Given the description of an element on the screen output the (x, y) to click on. 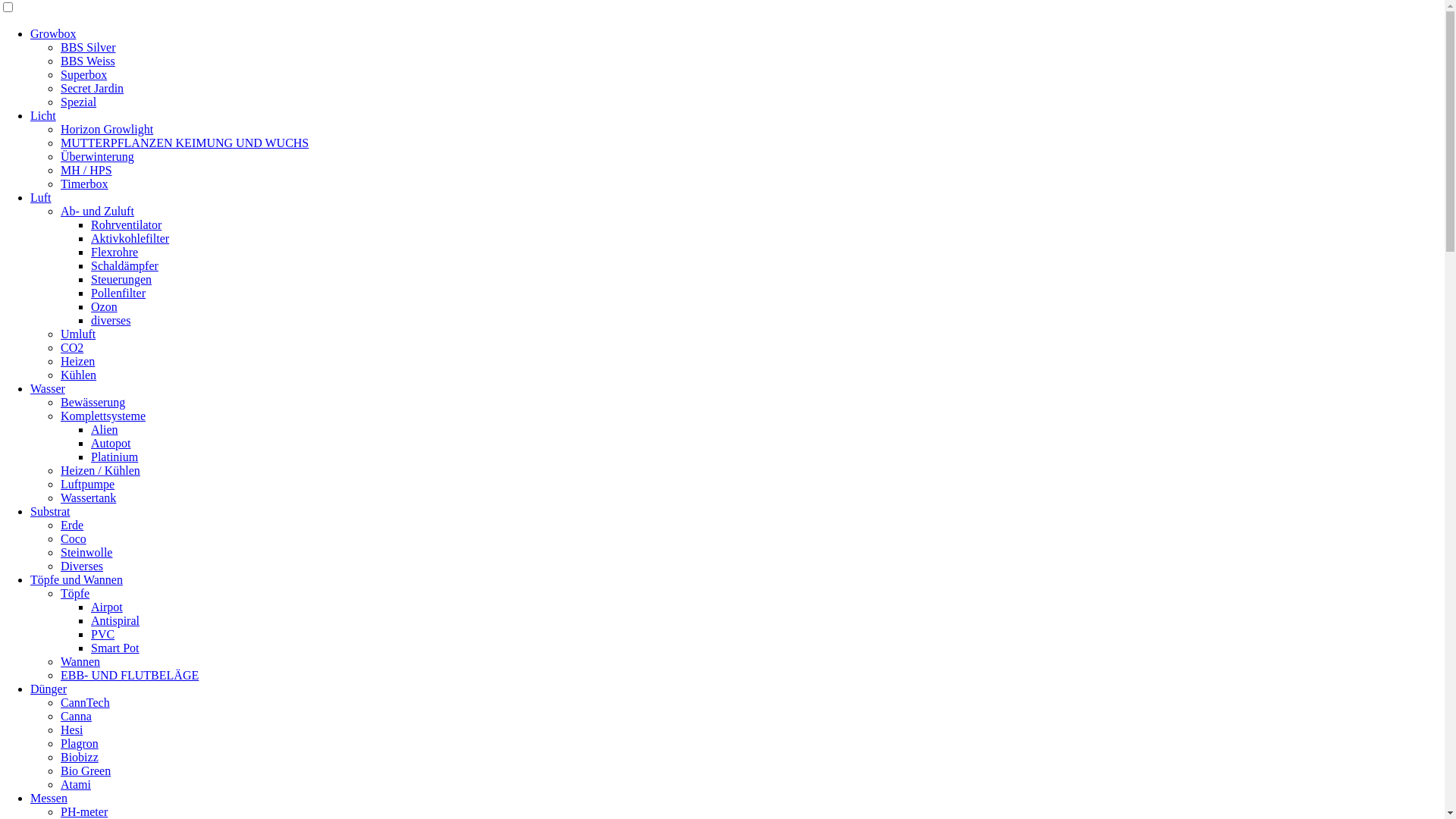
Diverses Element type: text (81, 565)
Platinium Element type: text (114, 456)
Timerbox Element type: text (84, 183)
Hesi Element type: text (71, 729)
Umluft Element type: text (77, 333)
Alien Element type: text (104, 429)
Smart Pot Element type: text (115, 647)
Luft Element type: text (40, 197)
Steuerungen Element type: text (121, 279)
Ab- und Zuluft Element type: text (97, 210)
Heizen Element type: text (77, 360)
Superbox Element type: text (83, 74)
Biobizz Element type: text (79, 756)
Coco Element type: text (73, 538)
MUTTERPFLANZEN KEIMUNG UND WUCHS Element type: text (184, 142)
Canna Element type: text (75, 715)
Wassertank Element type: text (88, 497)
Substrat Element type: text (49, 511)
Atami Element type: text (75, 784)
Wasser Element type: text (47, 388)
CO2 Element type: text (71, 347)
CannTech Element type: text (84, 702)
PVC Element type: text (102, 633)
Autopot Element type: text (110, 442)
Pollenfilter Element type: text (118, 292)
MH / HPS Element type: text (86, 169)
Messen Element type: text (48, 797)
Airpot Element type: text (106, 606)
Secret Jardin Element type: text (91, 87)
BBS Weiss Element type: text (87, 60)
Rohrventilator Element type: text (126, 224)
BBS Silver Element type: text (87, 46)
Komplettsysteme Element type: text (102, 415)
Plagron Element type: text (79, 743)
Aktivkohlefilter Element type: text (130, 238)
Licht Element type: text (43, 115)
Erde Element type: text (71, 524)
Growbox Element type: text (52, 33)
Antispiral Element type: text (115, 620)
Ozon Element type: text (104, 306)
Bio Green Element type: text (85, 770)
Horizon Growlight Element type: text (106, 128)
Luftpumpe Element type: text (87, 483)
Wannen Element type: text (80, 661)
Steinwolle Element type: text (86, 552)
Flexrohre Element type: text (114, 251)
Spezial Element type: text (78, 101)
PH-meter Element type: text (83, 811)
diverses Element type: text (110, 319)
